Given the description of an element on the screen output the (x, y) to click on. 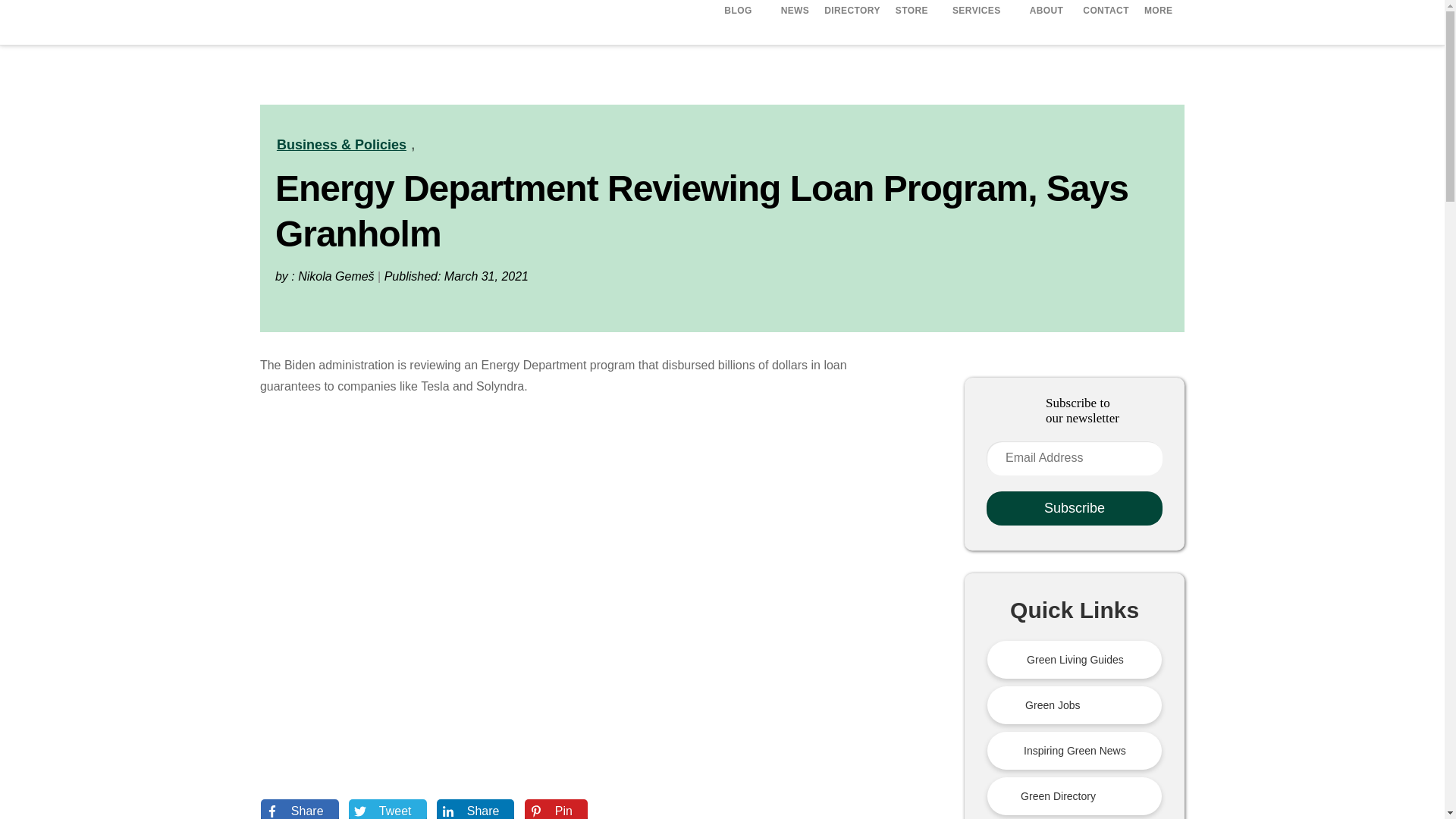
DIRECTORY (852, 12)
CONTACT (1106, 12)
SERVICES (978, 10)
Subscribe (1074, 508)
NEWS (794, 12)
ABOUT (1048, 12)
BLOG (739, 10)
MORE (1160, 12)
STORE (911, 12)
